Given the description of an element on the screen output the (x, y) to click on. 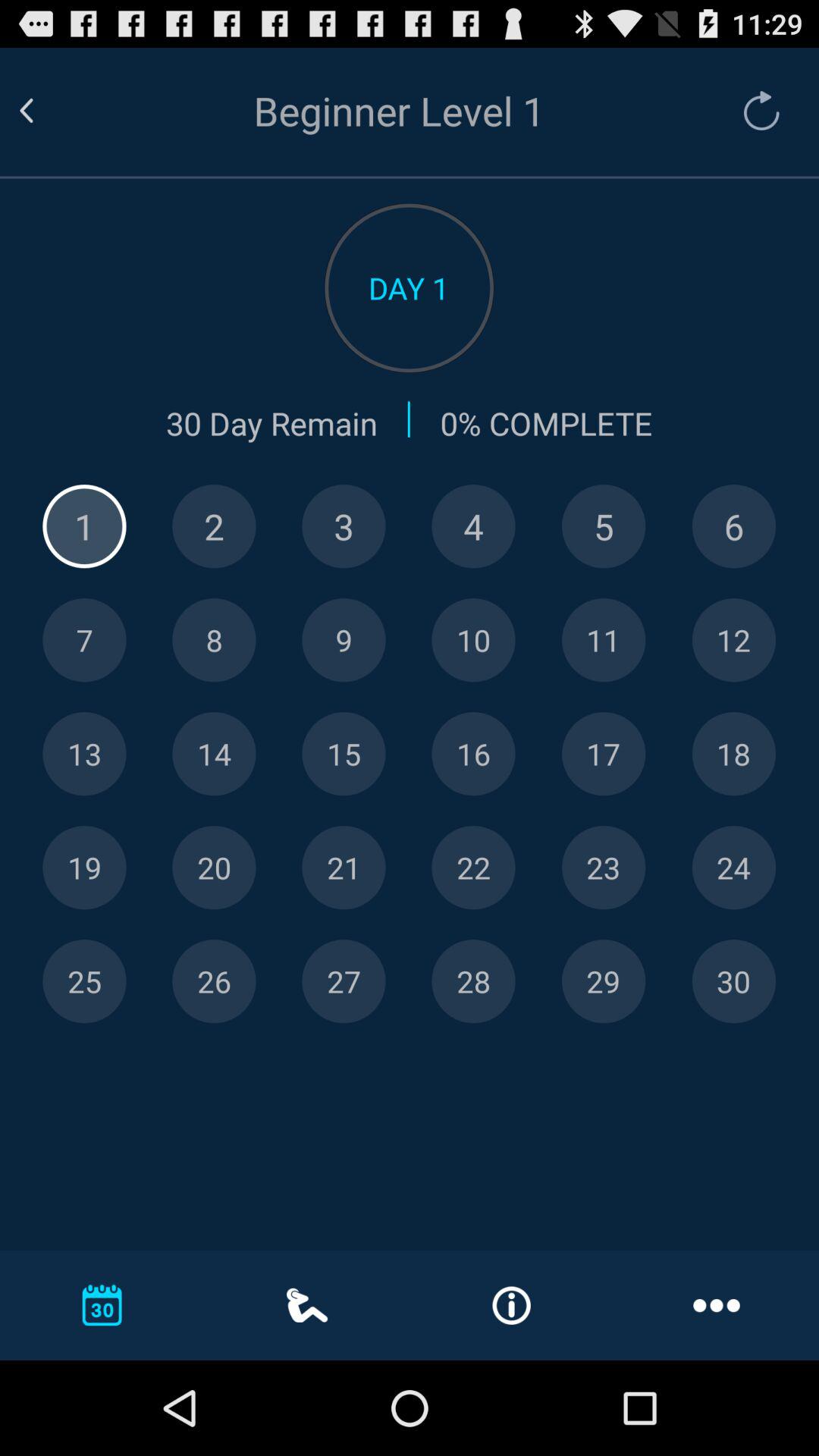
day select button (343, 867)
